Given the description of an element on the screen output the (x, y) to click on. 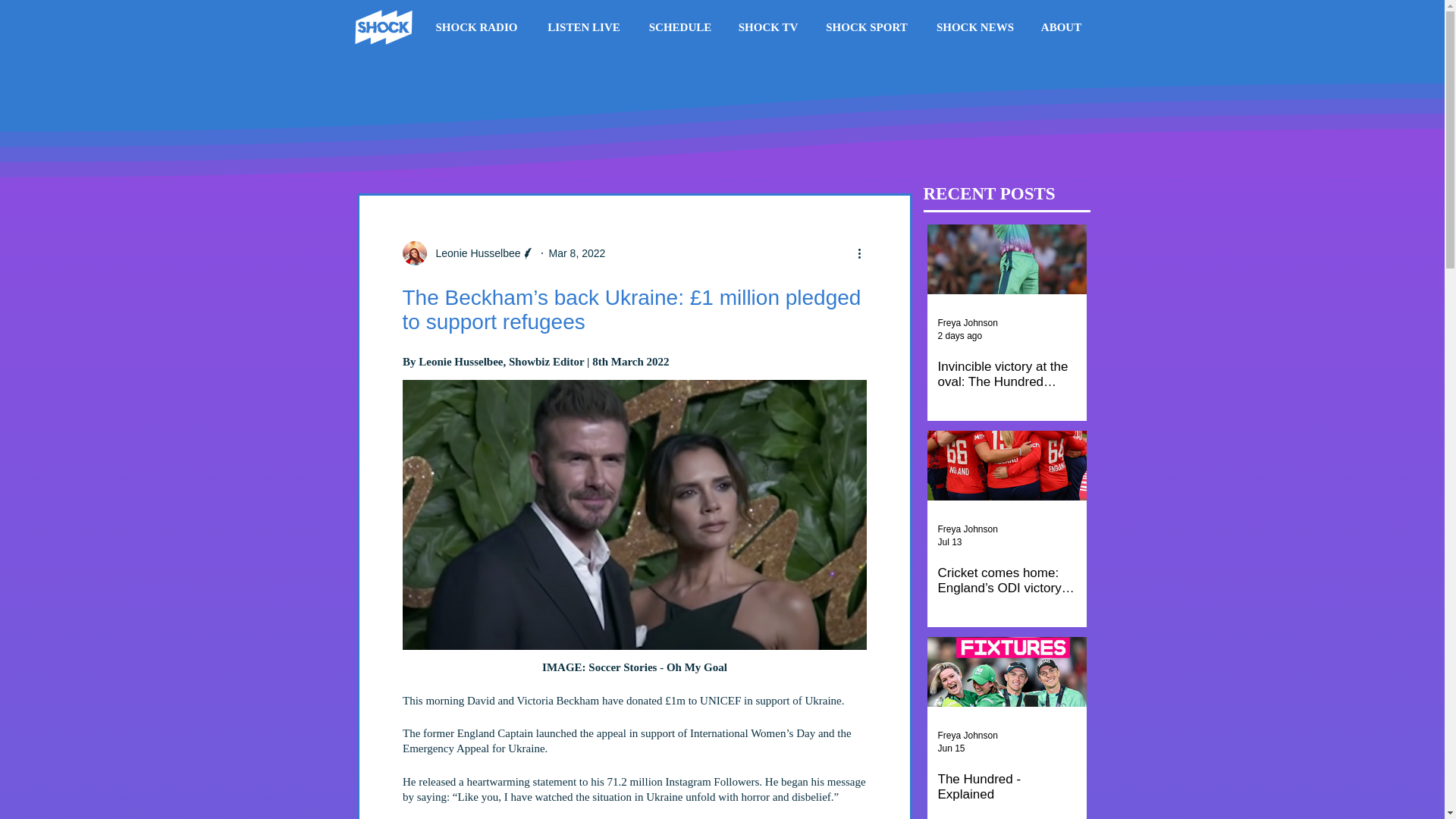
Invincible victory at the oval: The Hundred 2024 Day One (1006, 374)
ABOUT (1060, 27)
Freya Johnson (967, 322)
Jul 13 (948, 542)
Leonie Husselbee (467, 252)
Mar 8, 2022 (576, 253)
SHOCK TV (767, 27)
SCHEDULE (679, 27)
Freya Johnson (967, 735)
LISTEN LIVE (583, 27)
SHOCK NEWS (974, 27)
SHOCK SPORT (865, 27)
The Hundred - Explained (1006, 787)
Freya Johnson (967, 529)
Jun 15 (950, 747)
